Given the description of an element on the screen output the (x, y) to click on. 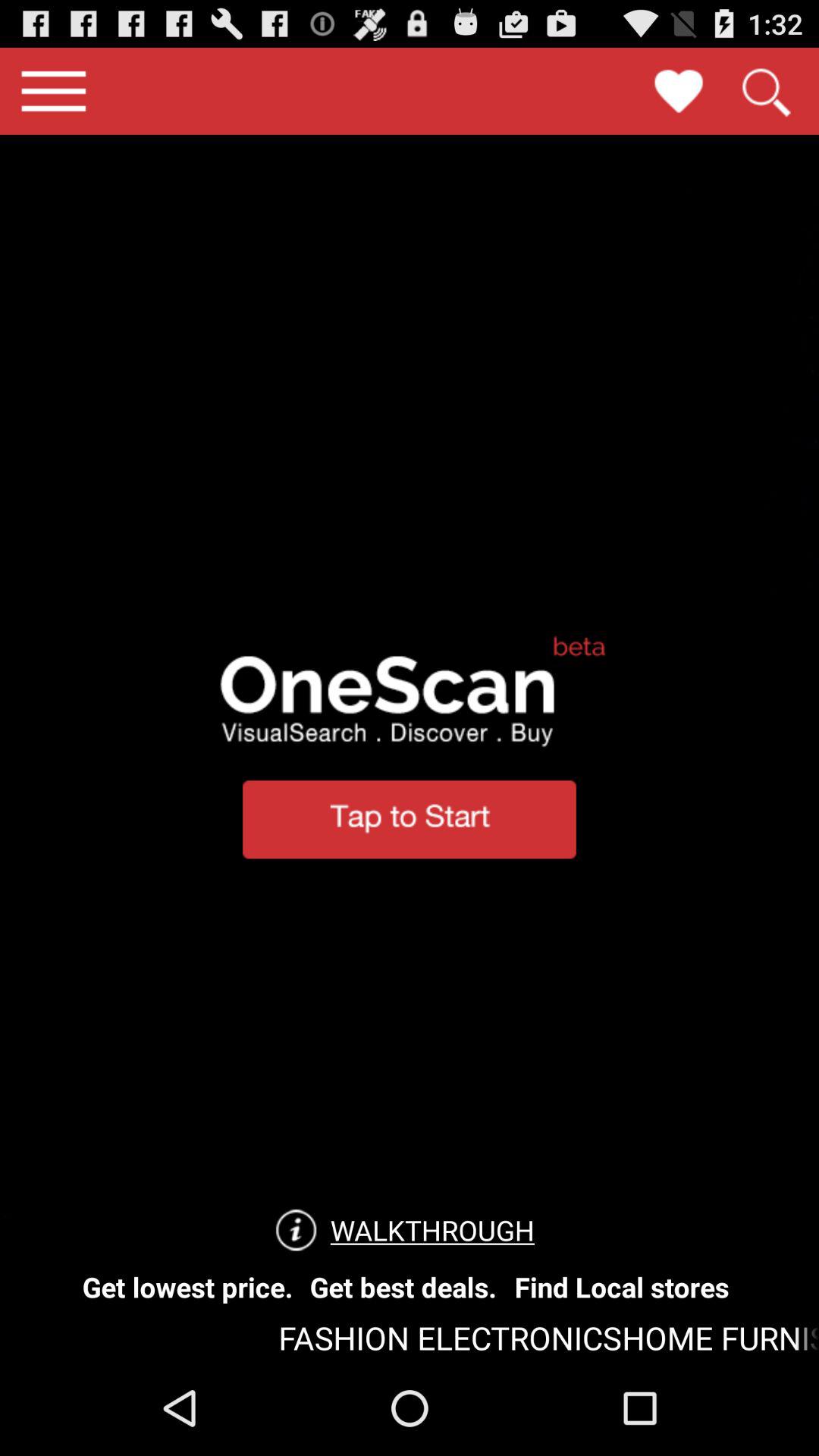
like (678, 91)
